Given the description of an element on the screen output the (x, y) to click on. 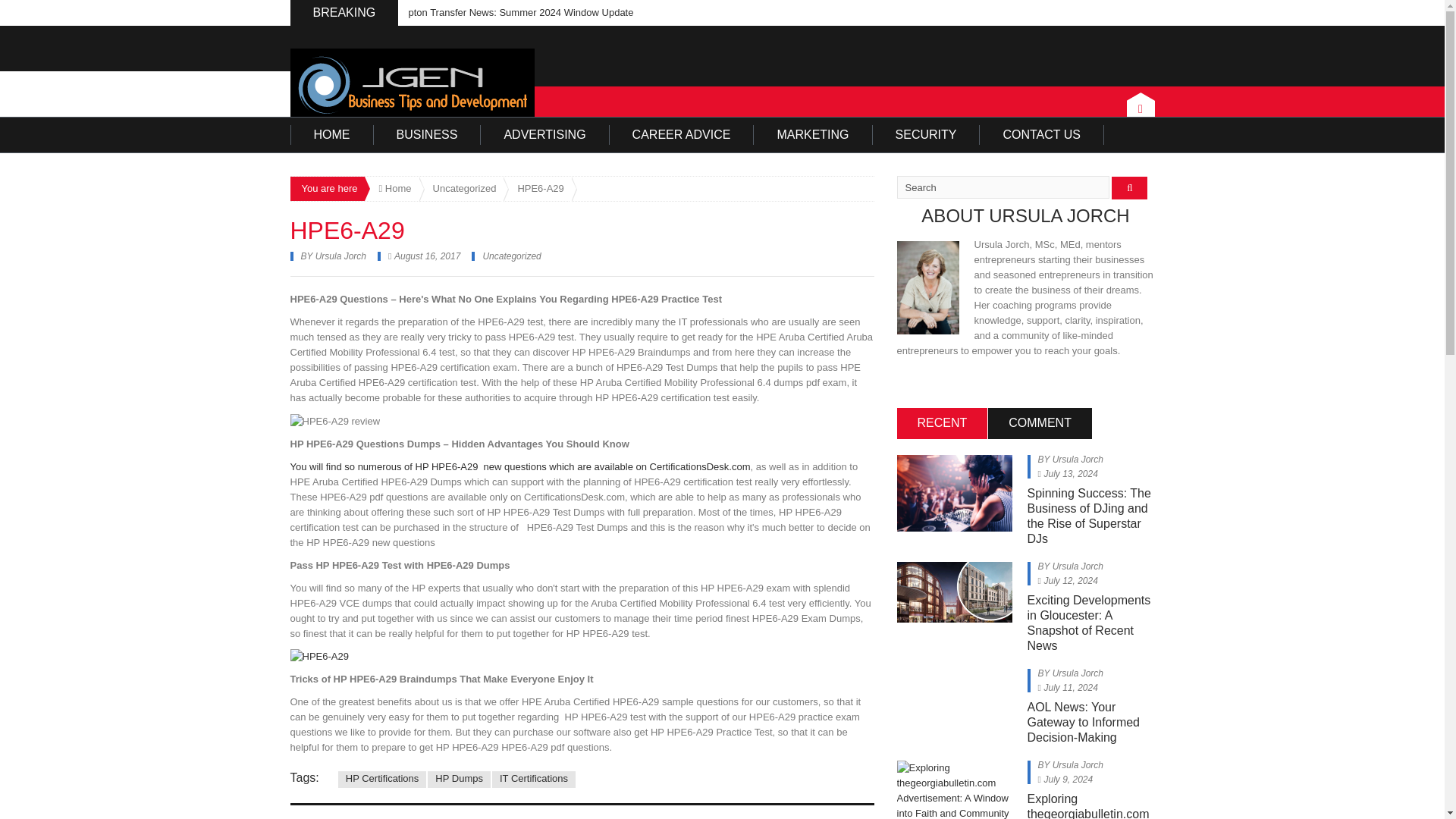
BUSINESS (426, 134)
CONTACT US (1041, 134)
Southampton Transfer News: Summer 2024 Window Update (500, 12)
ADVERTISING (544, 134)
MARKETING (813, 134)
SECURITY (925, 134)
CAREER ADVICE (682, 134)
Search (1002, 187)
HOME (330, 134)
Search (1002, 187)
